Given the description of an element on the screen output the (x, y) to click on. 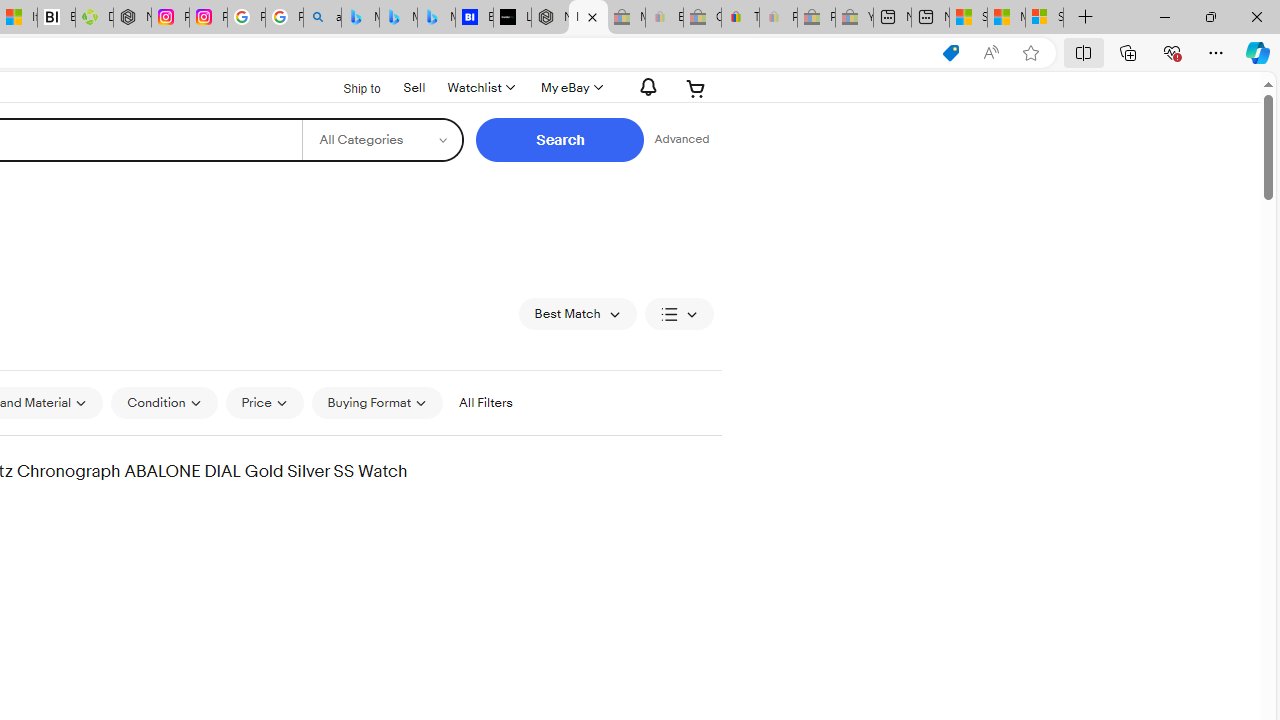
Select a category for search (382, 139)
Your shopping cart (696, 88)
Microsoft Bing Travel - Shangri-La Hotel Bangkok (436, 17)
Sort: Best Match (577, 313)
Press Room - eBay Inc. - Sleeping (815, 17)
Ship to (349, 86)
Expand Cart (696, 88)
Invicta products for sale | eBay (587, 17)
Watchlist (479, 88)
AutomationID: gh-eb-Alerts (645, 87)
